Given the description of an element on the screen output the (x, y) to click on. 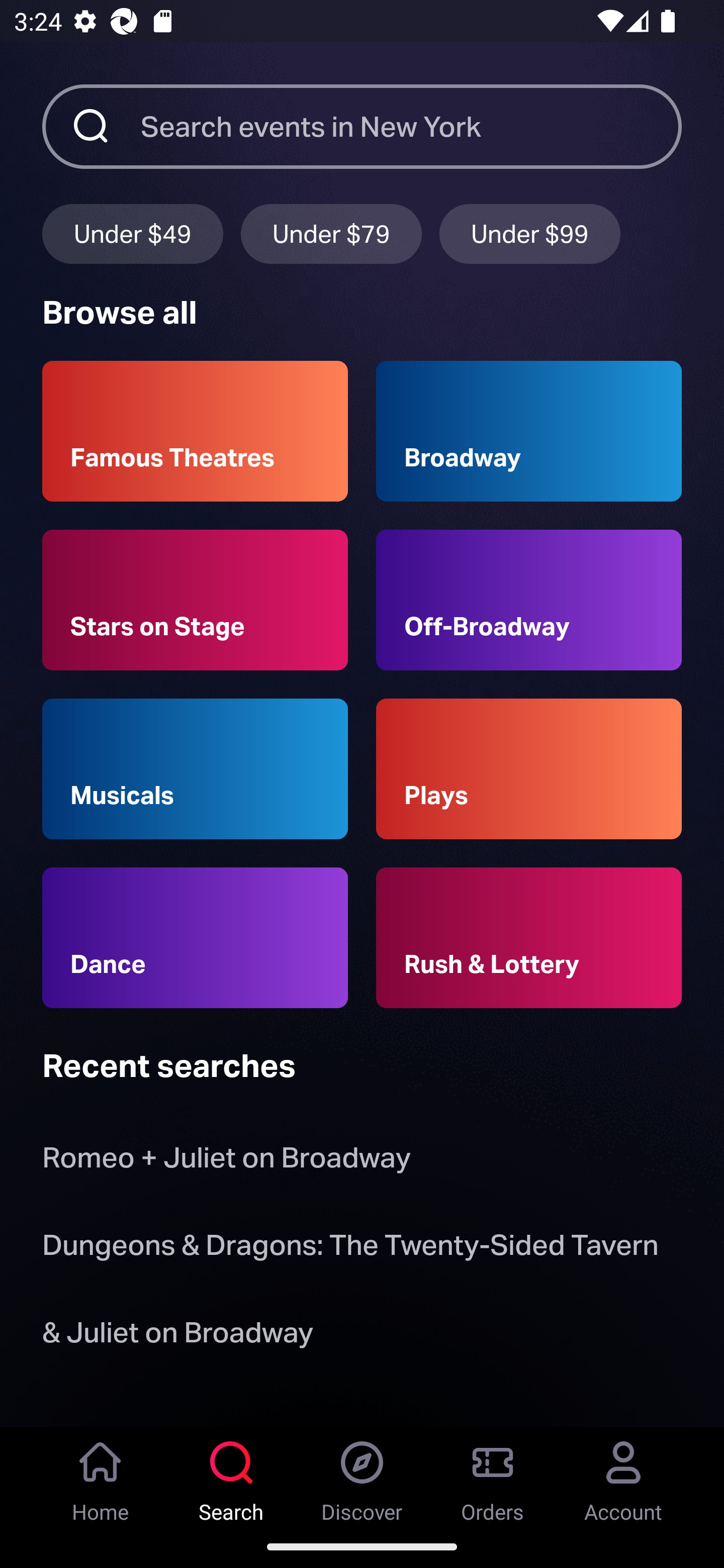
Search events in New York (411, 126)
Under $49 (131, 233)
Under $79 (331, 233)
Under $99 (529, 233)
Famous Theatres (194, 430)
Broadway (528, 430)
Stars on Stage (194, 600)
Off-Broadway (528, 600)
Musicals (194, 768)
Plays (528, 768)
Dance (194, 937)
Rush & Lottery (528, 937)
Romeo + Juliet on Broadway (225, 1161)
Dungeons & Dragons: The Twenty-Sided Tavern (349, 1248)
& Juliet on Broadway  (180, 1335)
Home (100, 1475)
Discover (361, 1475)
Orders (492, 1475)
Account (623, 1475)
